Given the description of an element on the screen output the (x, y) to click on. 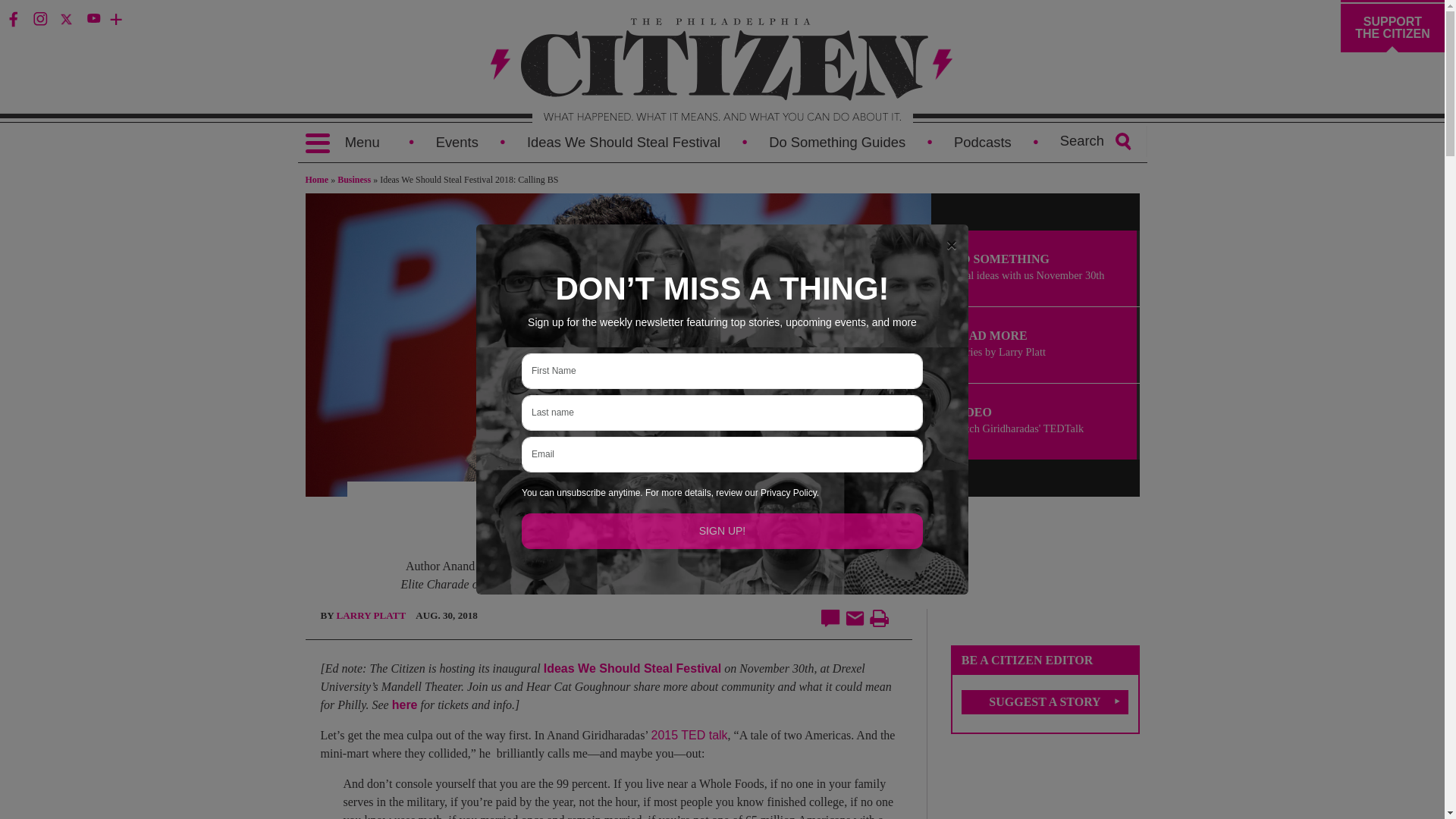
Newsletter (171, 18)
Instagram (39, 18)
Email this story (854, 618)
Youtube (92, 18)
Menu (342, 142)
Search (28, 10)
Podcasts (982, 142)
Print this story (878, 618)
Do Something Guides (836, 142)
LinkedIn (119, 18)
Events (457, 142)
Facebook (12, 18)
Comment on this story (830, 618)
Twitter (66, 18)
